Given the description of an element on the screen output the (x, y) to click on. 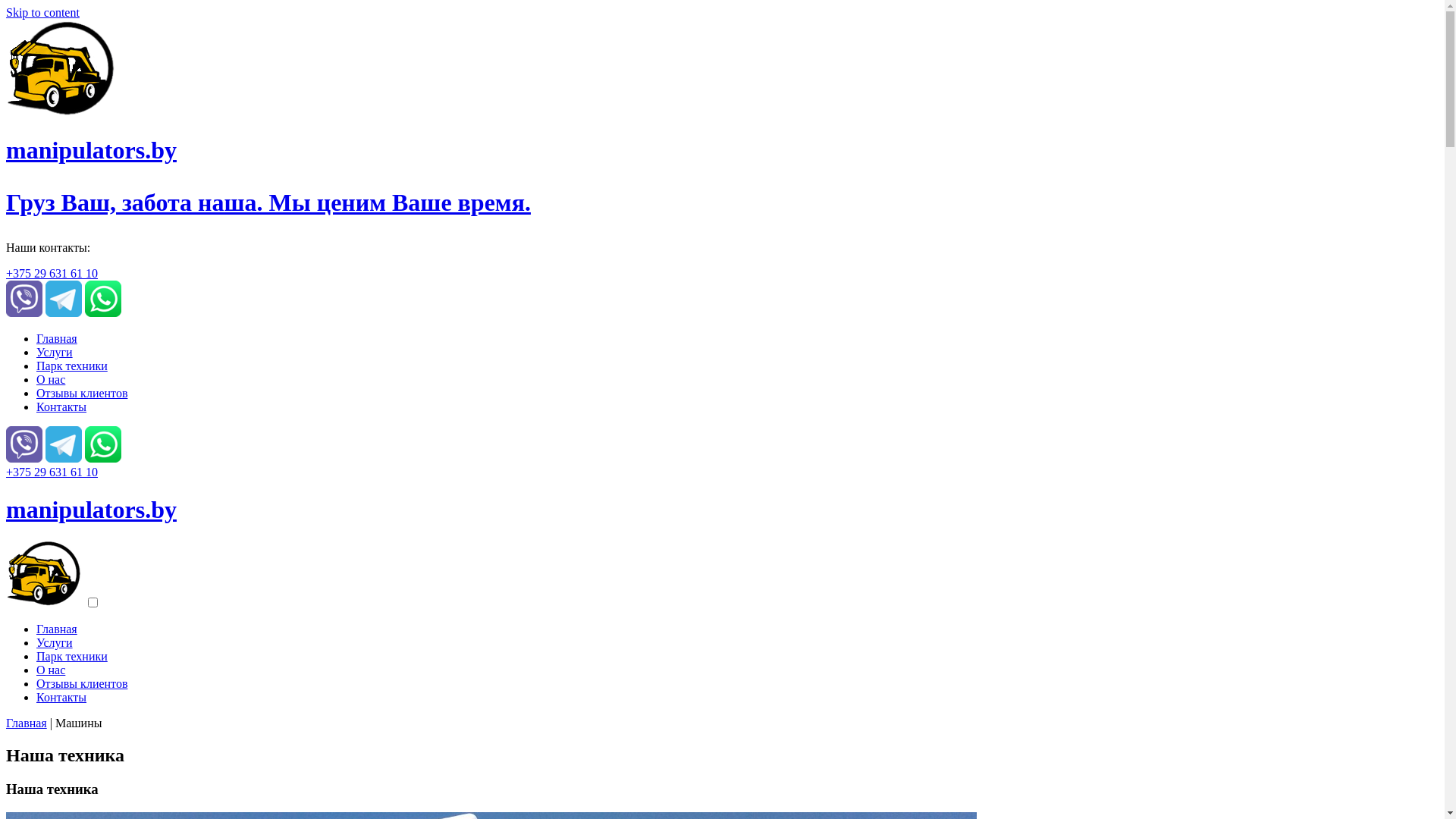
+375 29 631 61 10 Element type: text (51, 471)
+375 29 631 61 10 Element type: text (51, 272)
manipulators.by Element type: text (91, 509)
Skip to content Element type: text (42, 12)
